Given the description of an element on the screen output the (x, y) to click on. 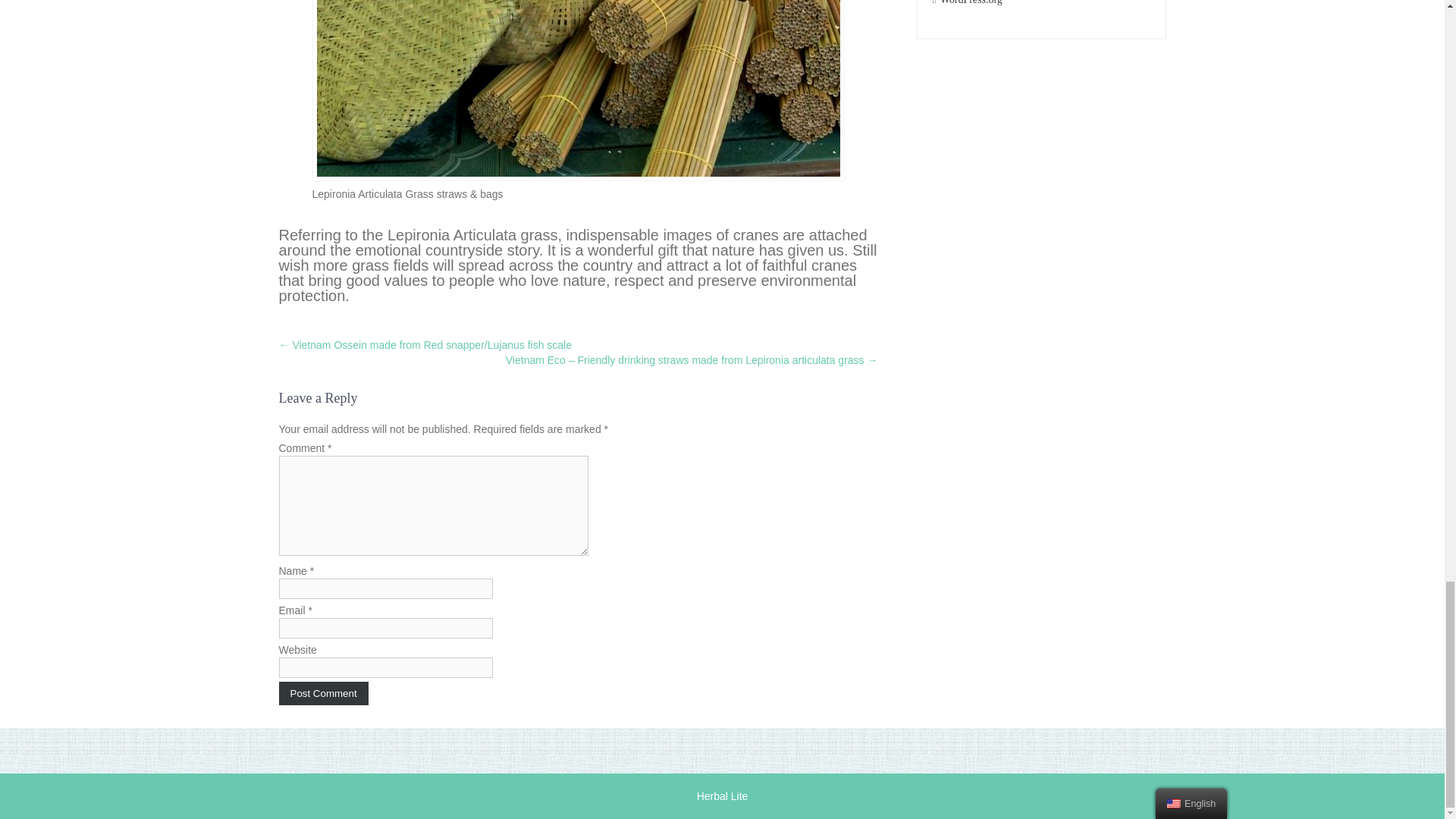
Post Comment (323, 693)
Post Comment (323, 693)
